Given the description of an element on the screen output the (x, y) to click on. 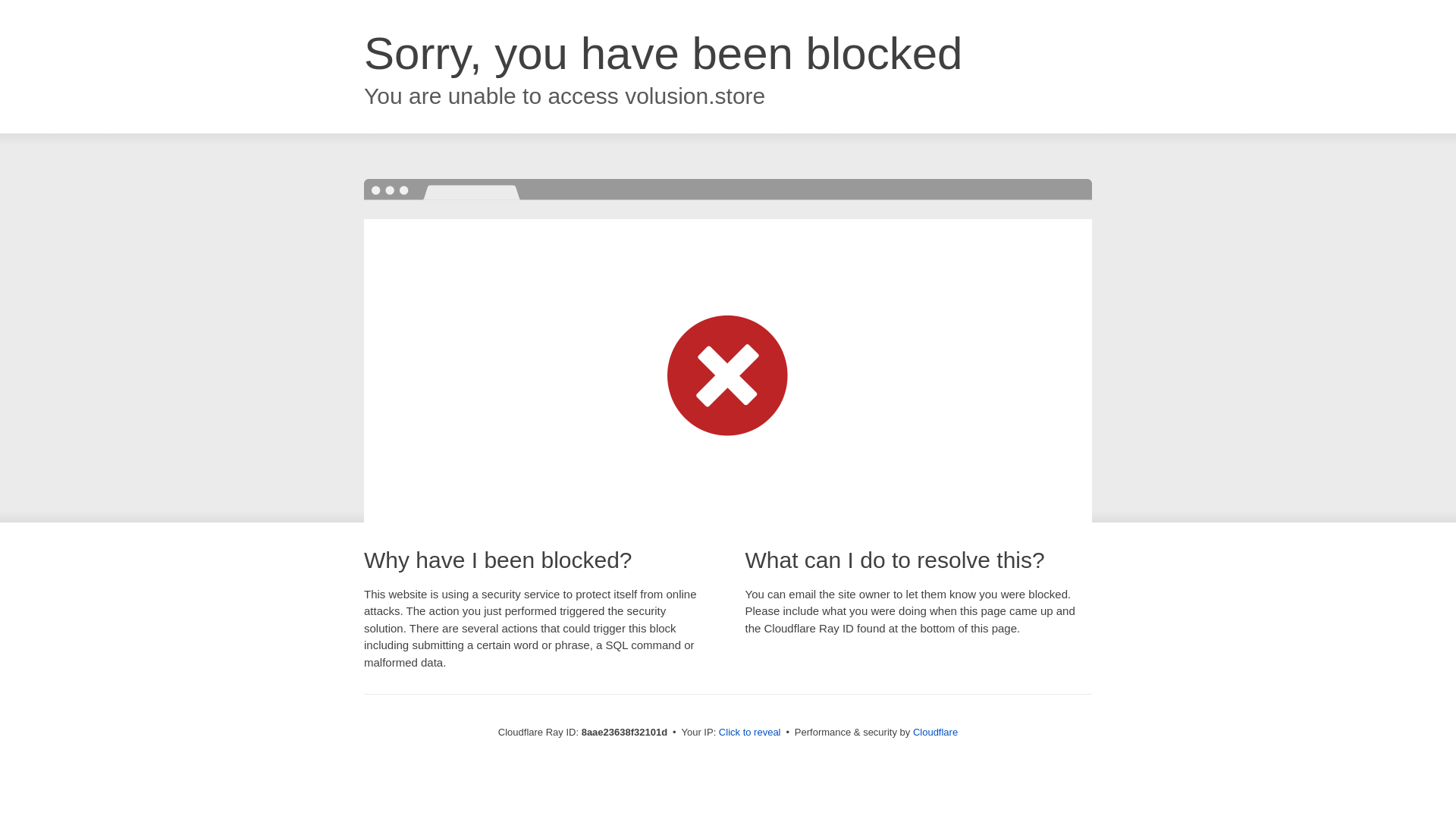
Click to reveal (749, 732)
Cloudflare (935, 731)
